Given the description of an element on the screen output the (x, y) to click on. 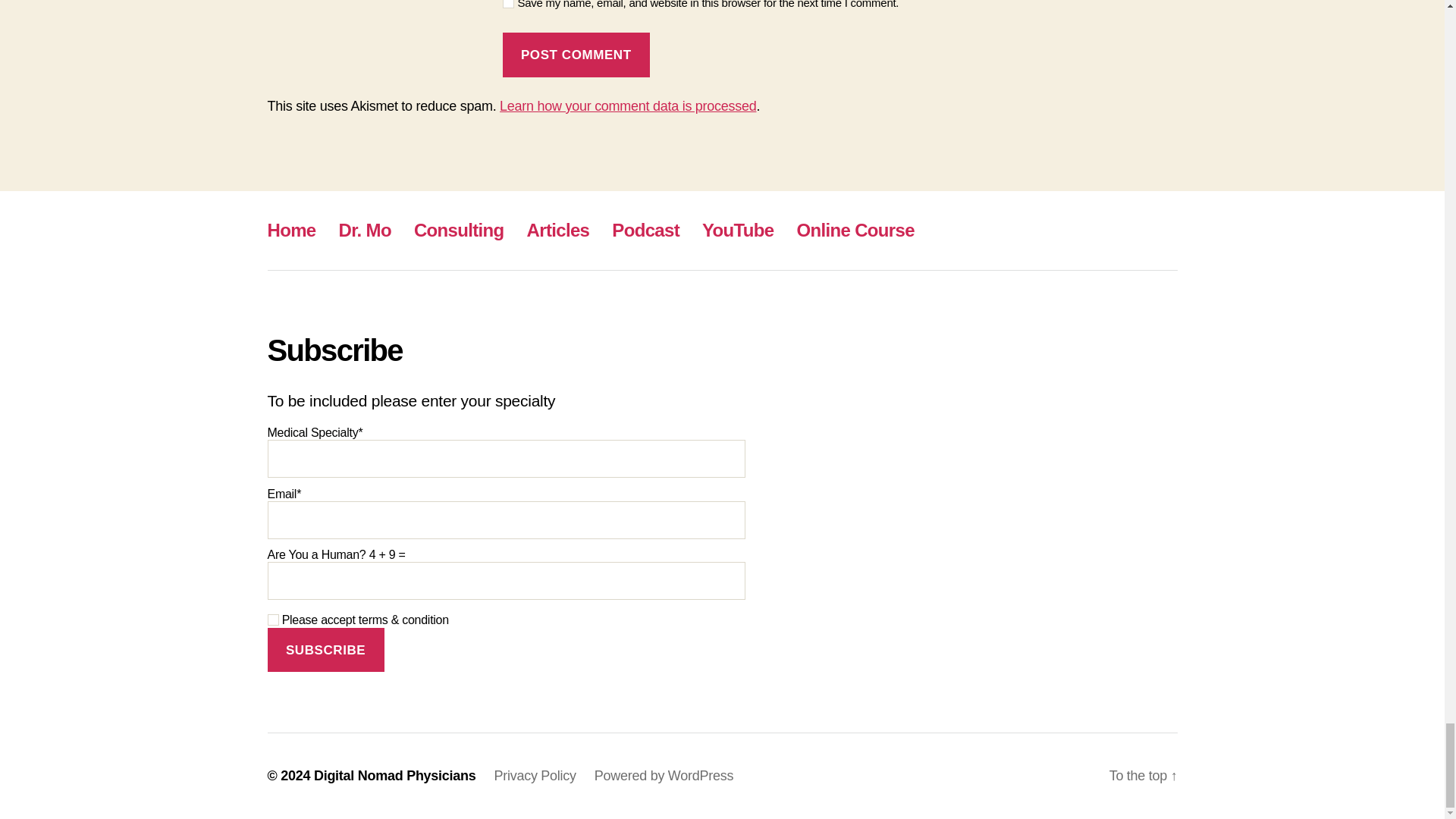
A little about me and my timeline. (365, 230)
Post Comment (575, 54)
Subscribe (325, 650)
yes (507, 4)
true (272, 619)
